Given the description of an element on the screen output the (x, y) to click on. 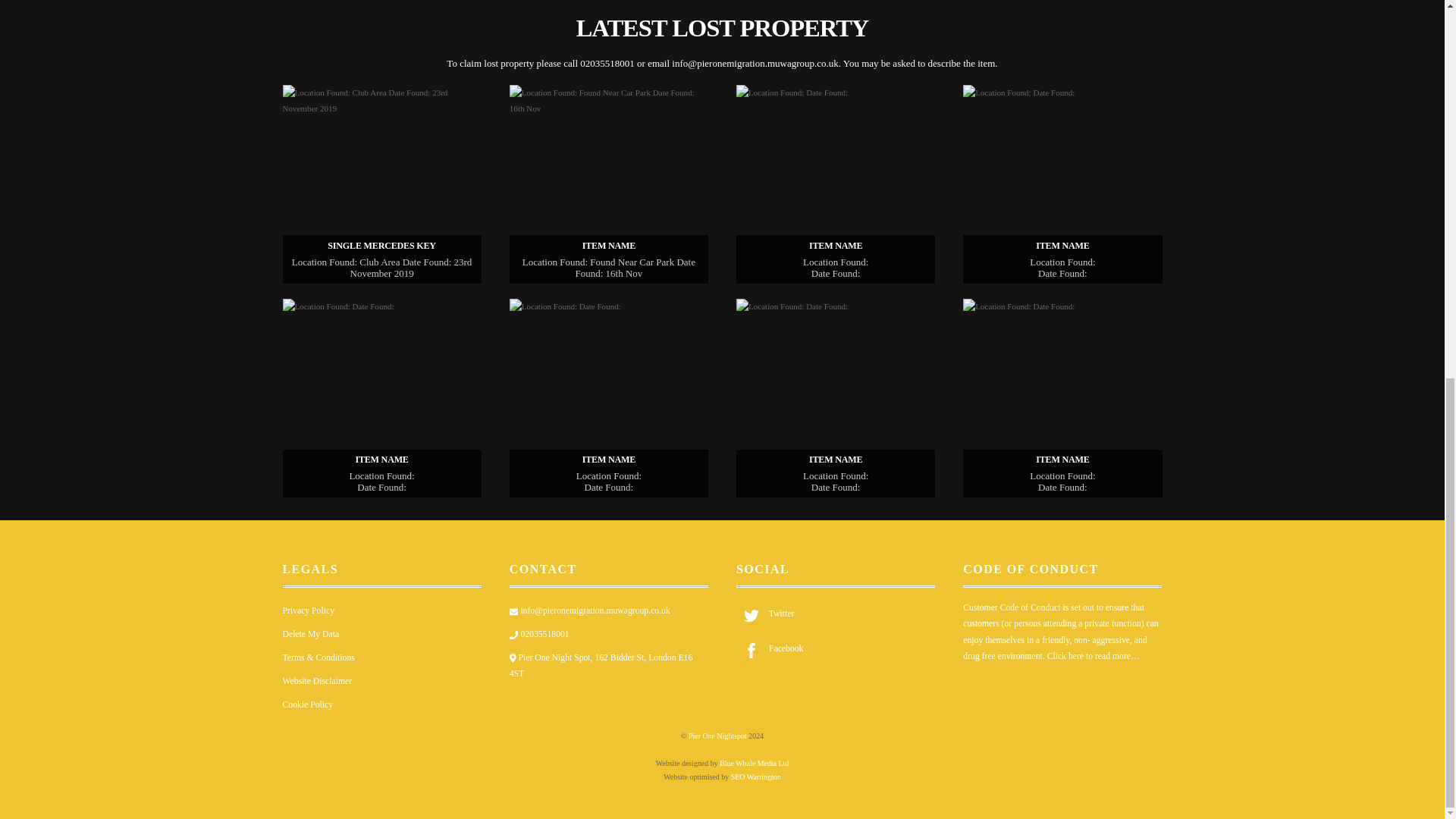
ITEM NAME (835, 397)
SEO Warrington (755, 777)
Cookie Policy (307, 705)
Facebook (769, 648)
ITEM NAME (1061, 397)
ITEM NAME (381, 397)
Privacy Policy (308, 610)
ITEM NAME (1061, 184)
02035518001 (539, 634)
SEO Warrington (755, 777)
ITEM NAME (608, 397)
Pier One Nightspot (717, 736)
Single Mercedes Key (381, 184)
ITEM NAME (608, 184)
ITEM NAME (835, 184)
